Given the description of an element on the screen output the (x, y) to click on. 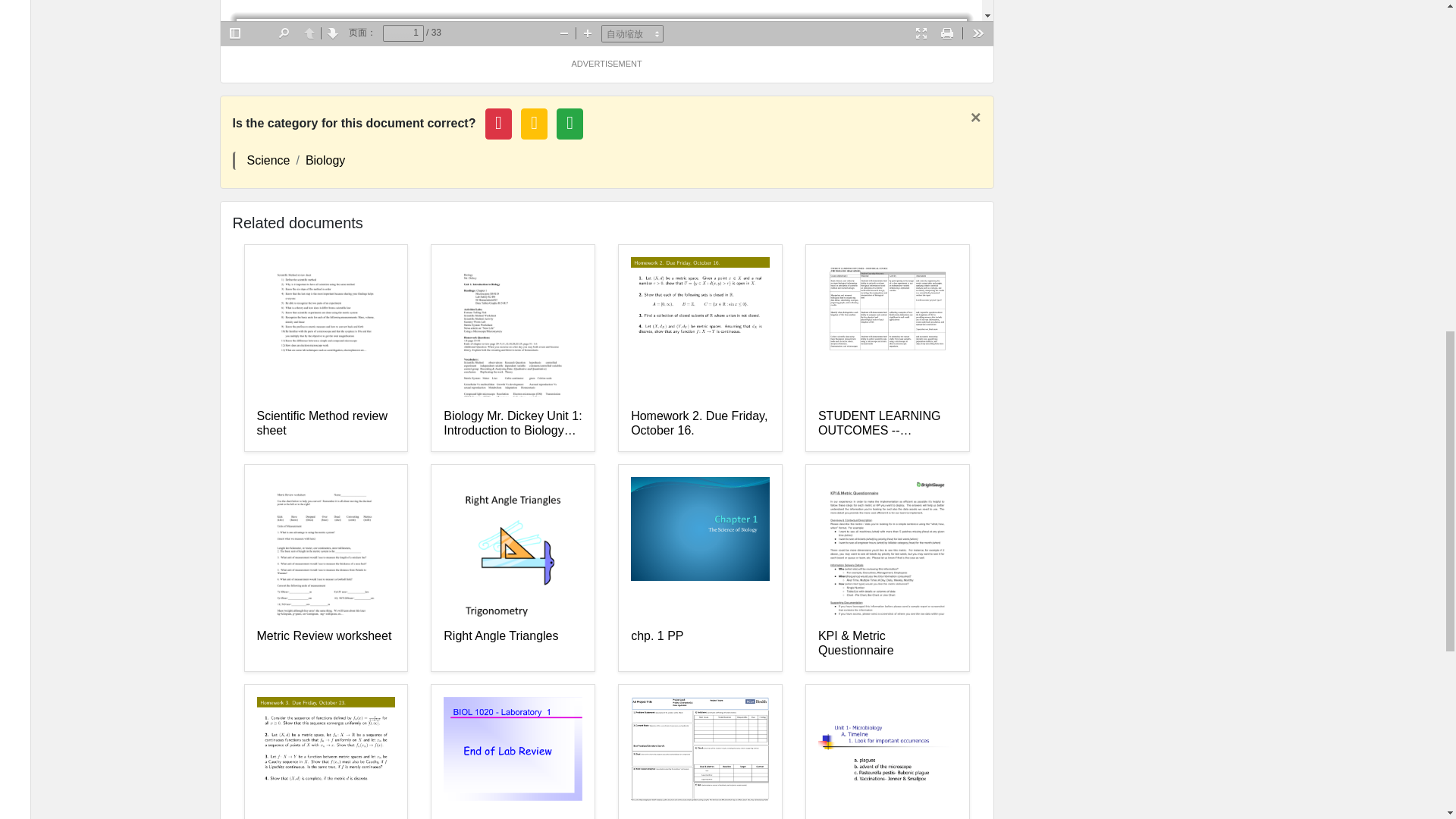
Biology (325, 160)
Scientific Method review sheet (325, 423)
Metric Review worksheet (325, 643)
Right Angle Triangles (513, 643)
Homework 2. Due Friday, October 16. (700, 423)
Metric Review worksheet (325, 643)
Science (268, 160)
Scientific Method review sheet (325, 423)
chp. 1 PP (700, 643)
Homework 2. Due Friday, October 16. (700, 423)
